Given the description of an element on the screen output the (x, y) to click on. 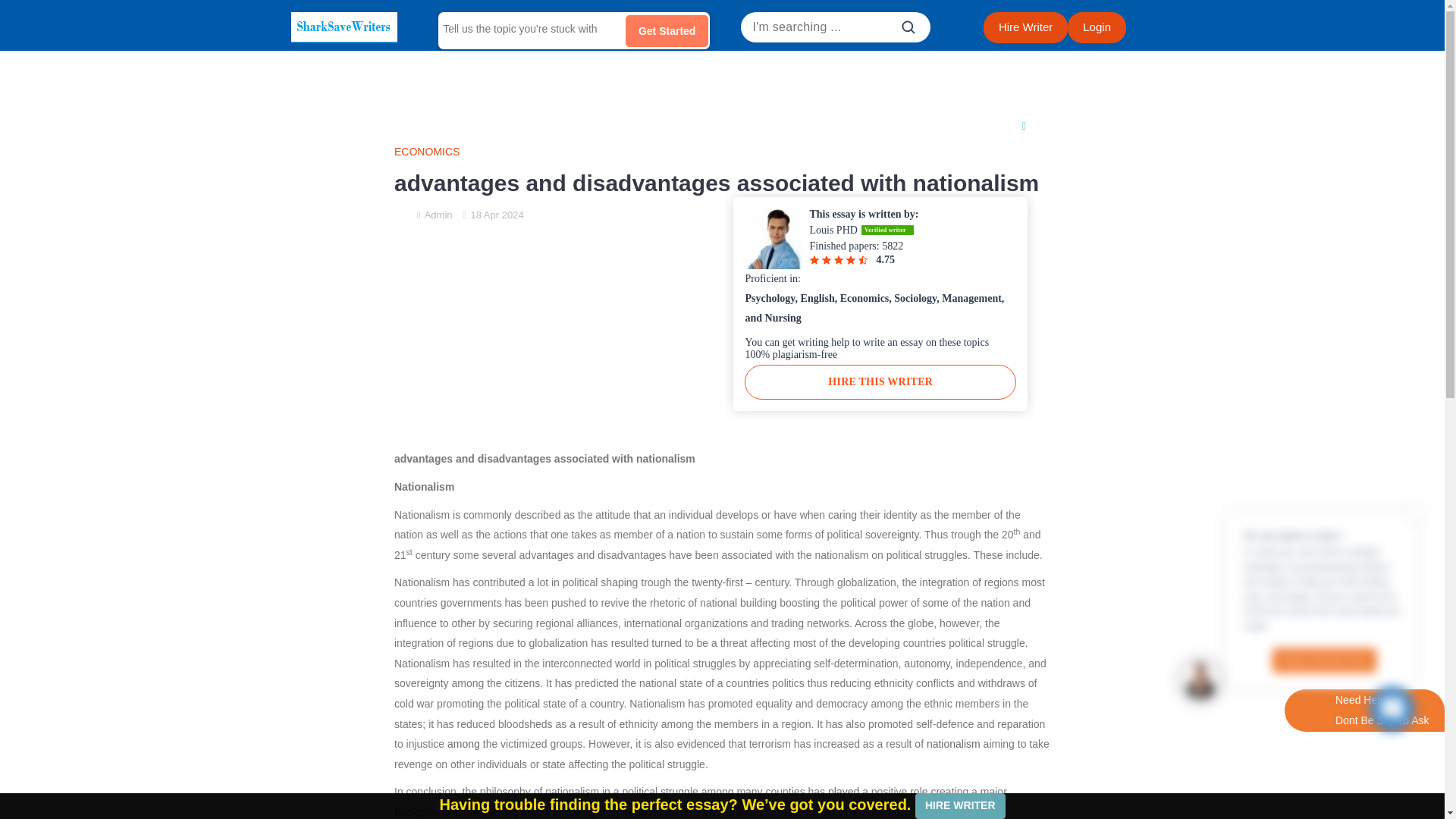
Login (1096, 27)
Check Out the Form (1323, 660)
among (463, 743)
Get Started (666, 30)
played (843, 791)
Hire Writer (1025, 27)
HIRE THIS WRITER (879, 382)
ECONOMICS (721, 151)
Admin (438, 214)
nationalism (952, 743)
